Given the description of an element on the screen output the (x, y) to click on. 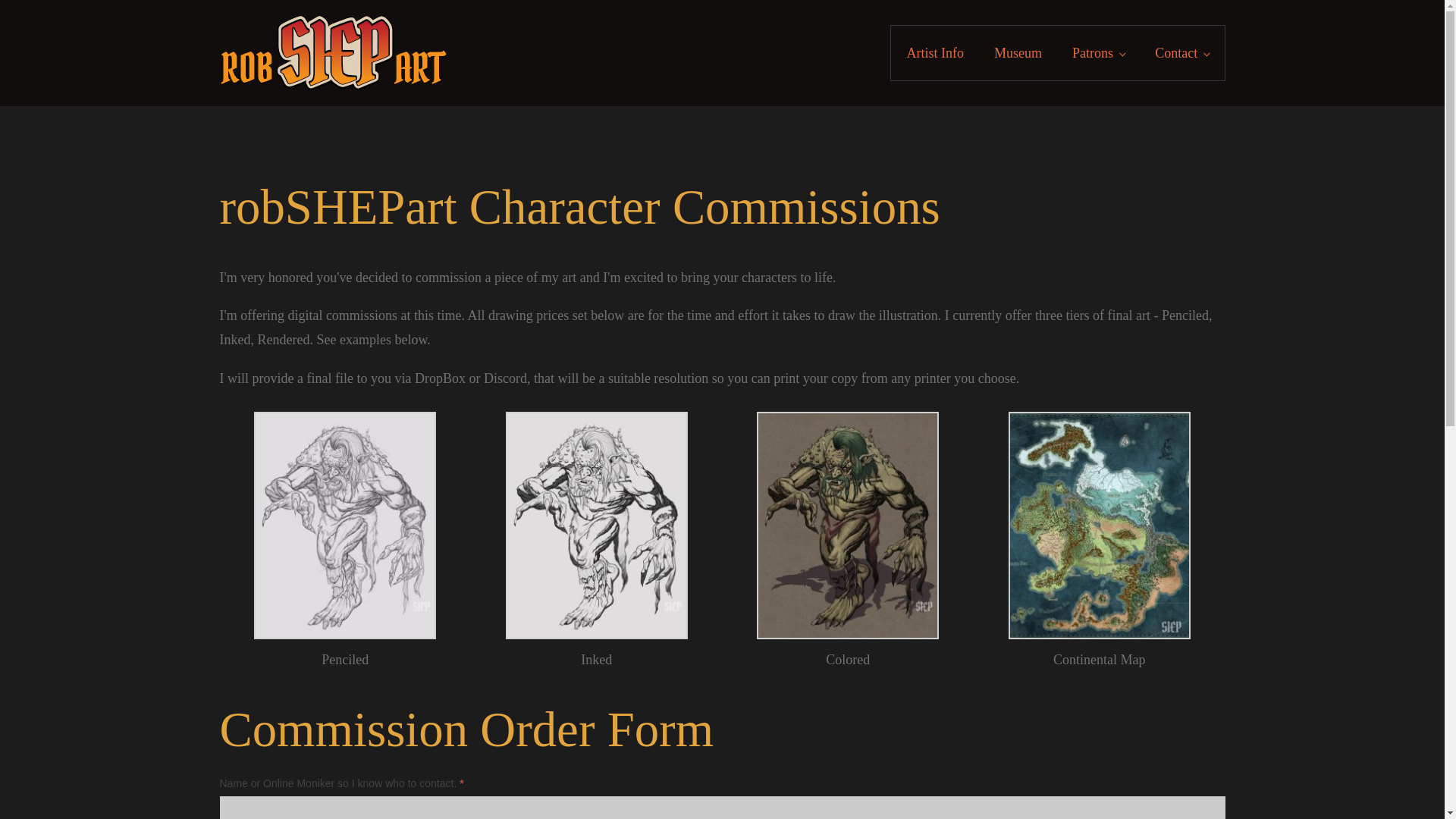
Patrons (1098, 52)
Contact (1182, 52)
Museum (1017, 52)
Artist Info (934, 52)
